Given the description of an element on the screen output the (x, y) to click on. 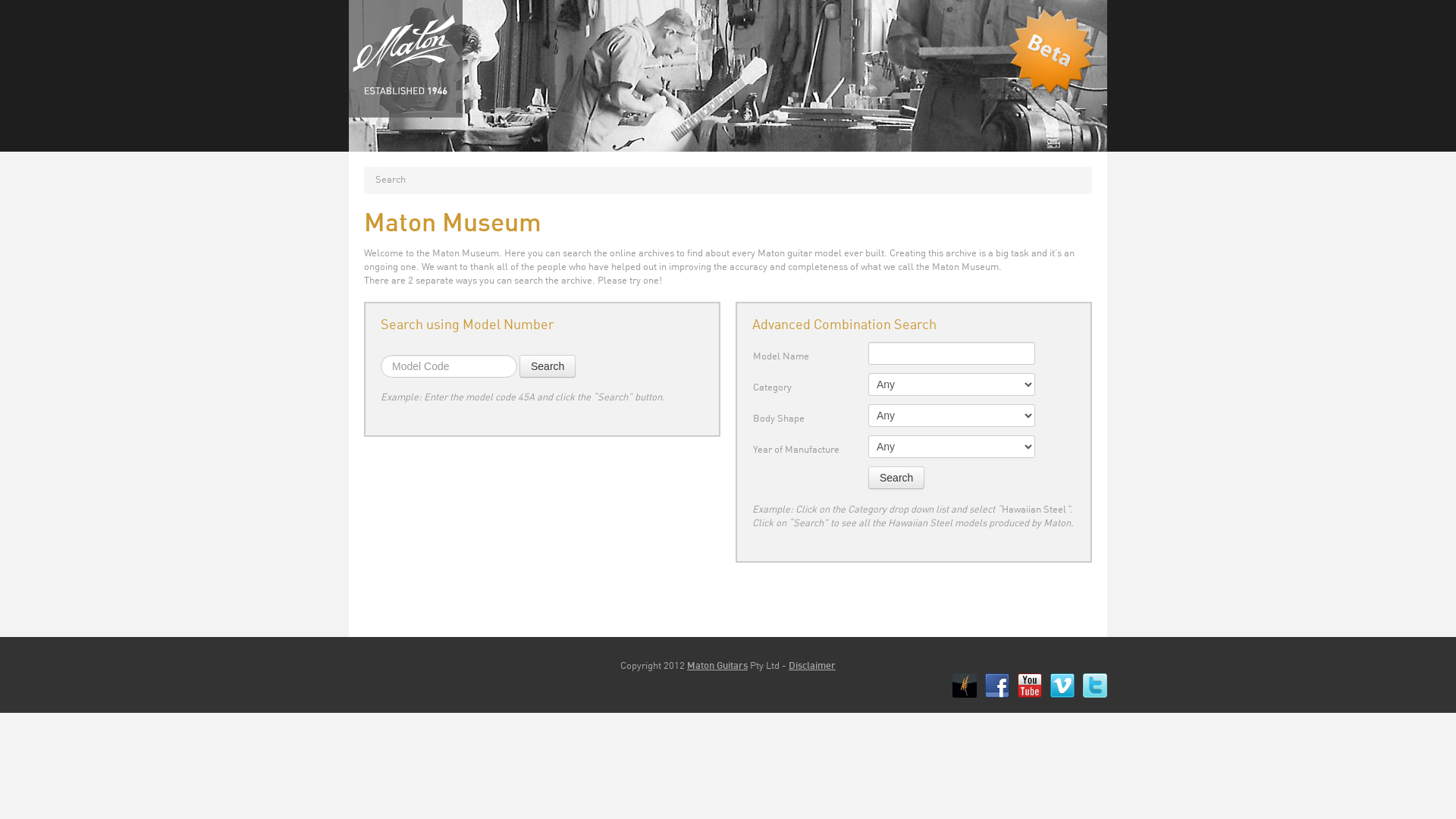
Disclaimer Element type: text (811, 666)
Search Element type: text (896, 477)
Search Element type: text (547, 365)
Maton Guitars Element type: text (717, 666)
